Given the description of an element on the screen output the (x, y) to click on. 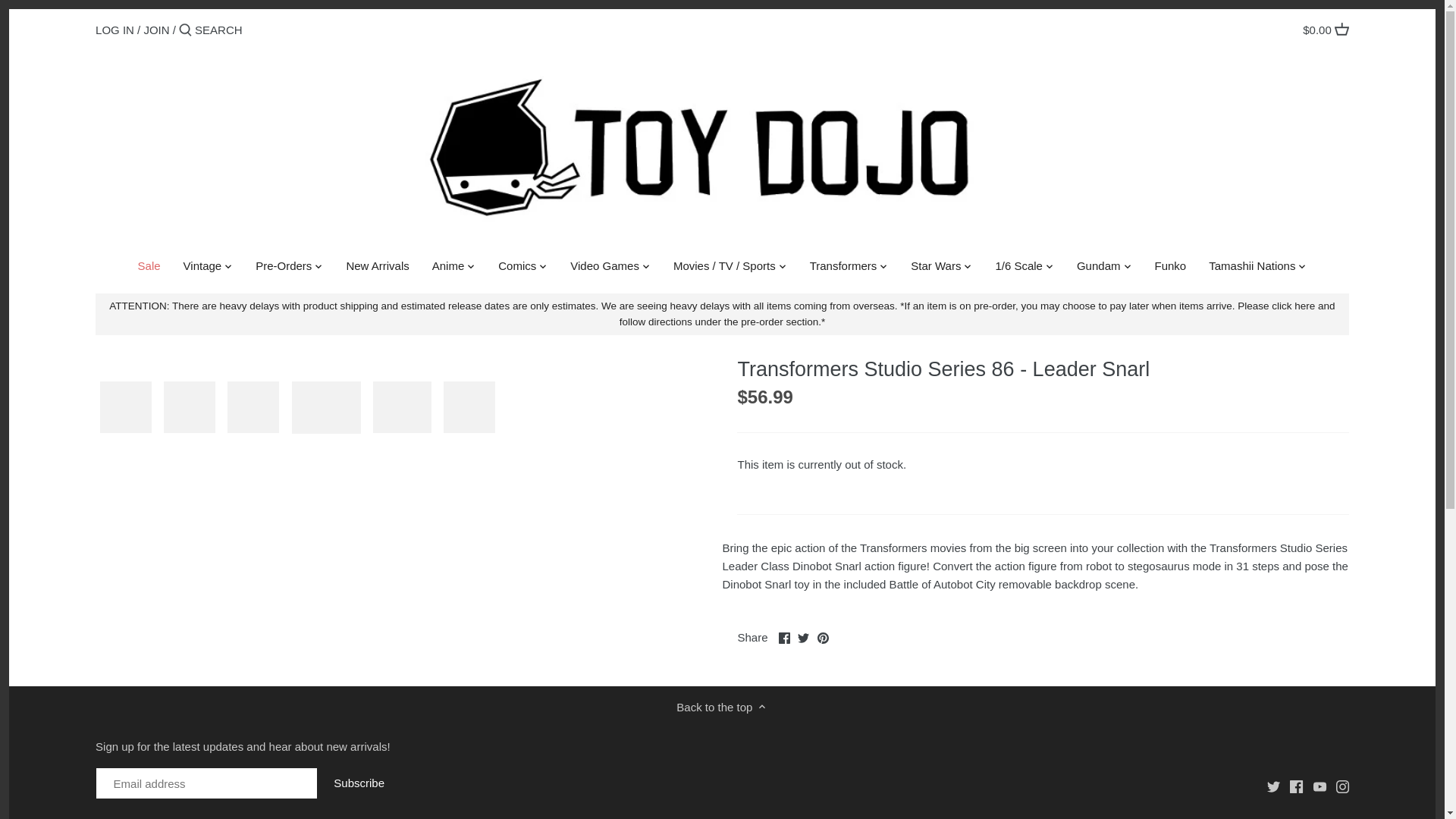
Pre-Orders (283, 268)
Anime (448, 268)
Sale (148, 268)
Facebook (784, 637)
Subscribe (359, 783)
Facebook (1296, 786)
Twitter (1272, 786)
Pinterest (822, 637)
Youtube (1319, 786)
JOIN (155, 29)
